Given the description of an element on the screen output the (x, y) to click on. 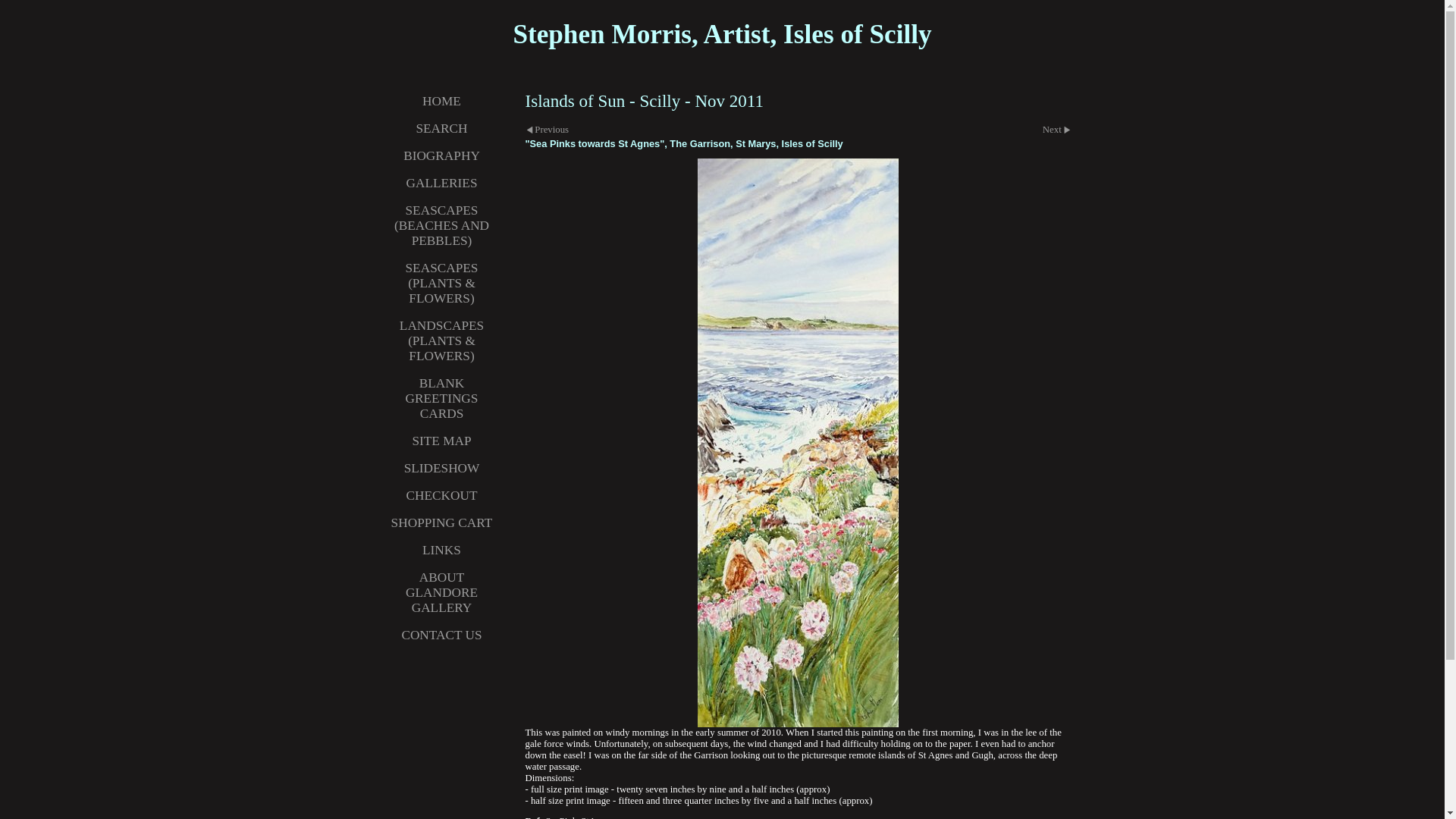
LINKS (441, 550)
GALLERIES (441, 183)
SITE MAP (441, 441)
SEARCH (441, 128)
Stephen Morris, Artist, Isles of Scilly (721, 34)
SHOPPING CART (441, 523)
CONTACT US (441, 635)
CHECKOUT (441, 495)
BLANK GREETINGS CARDS (441, 398)
BIOGRAPHY (441, 155)
ABOUT GLANDORE GALLERY (441, 592)
HOME (441, 101)
SLIDESHOW (441, 468)
